Given the description of an element on the screen output the (x, y) to click on. 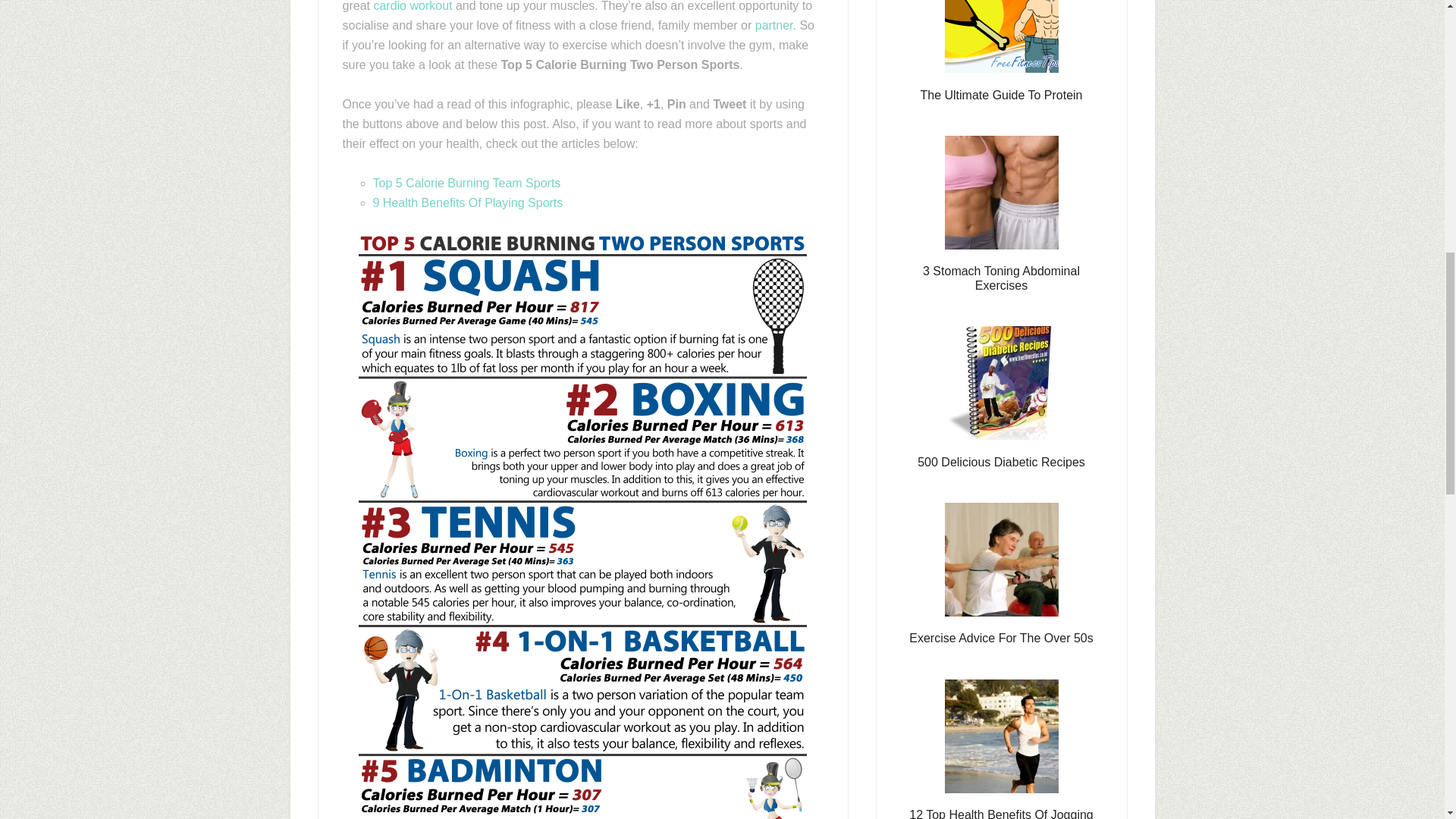
12 Top Health Benefits Of Jogging (1000, 813)
9 Health Benefits Of Playing Sports (467, 201)
Top 5 Calorie Burning Team Sports (466, 182)
Exercise Advice For The Over 50s (1000, 637)
cardio workout (411, 5)
The Ultimate Guide To Protein (1000, 93)
partner (774, 24)
500 Delicious Diabetic Recipes (1000, 461)
partner (774, 24)
9 Health Benefits Of Playing Sports (467, 201)
